Given the description of an element on the screen output the (x, y) to click on. 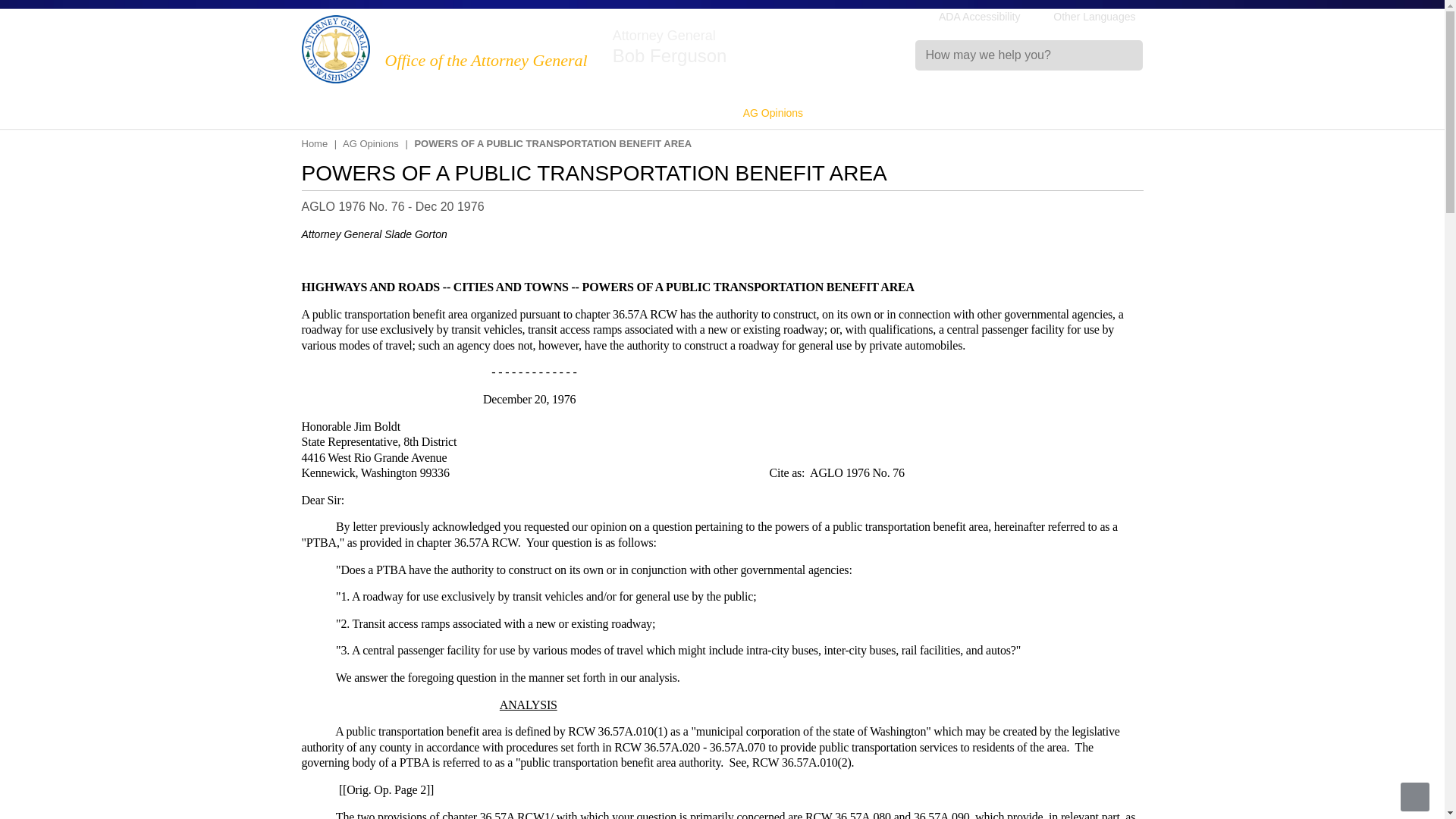
Other Languages (1086, 16)
ADA Accessibility (979, 16)
News (371, 113)
Home (325, 113)
Enter the terms you wish to search for. (1028, 55)
News (371, 113)
Washington State (459, 38)
Home (459, 38)
Office Information (445, 113)
Home (335, 49)
